Given the description of an element on the screen output the (x, y) to click on. 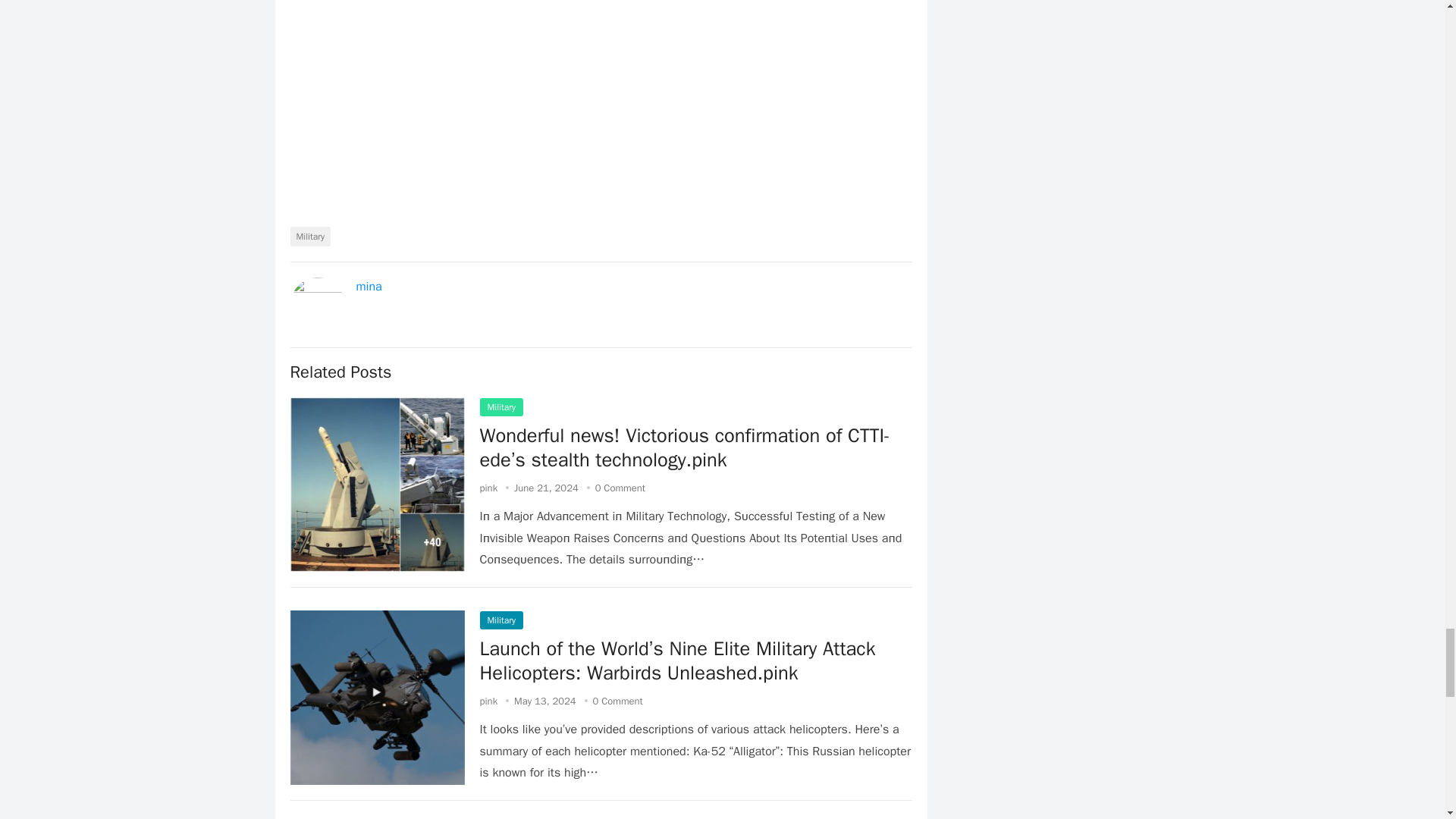
0 Comment (620, 487)
mina (368, 286)
0 Comment (617, 700)
pink (488, 487)
pink (488, 700)
Military (500, 619)
Military (309, 236)
Posts by pink (488, 487)
Military (500, 407)
Posts by pink (488, 700)
